Given the description of an element on the screen output the (x, y) to click on. 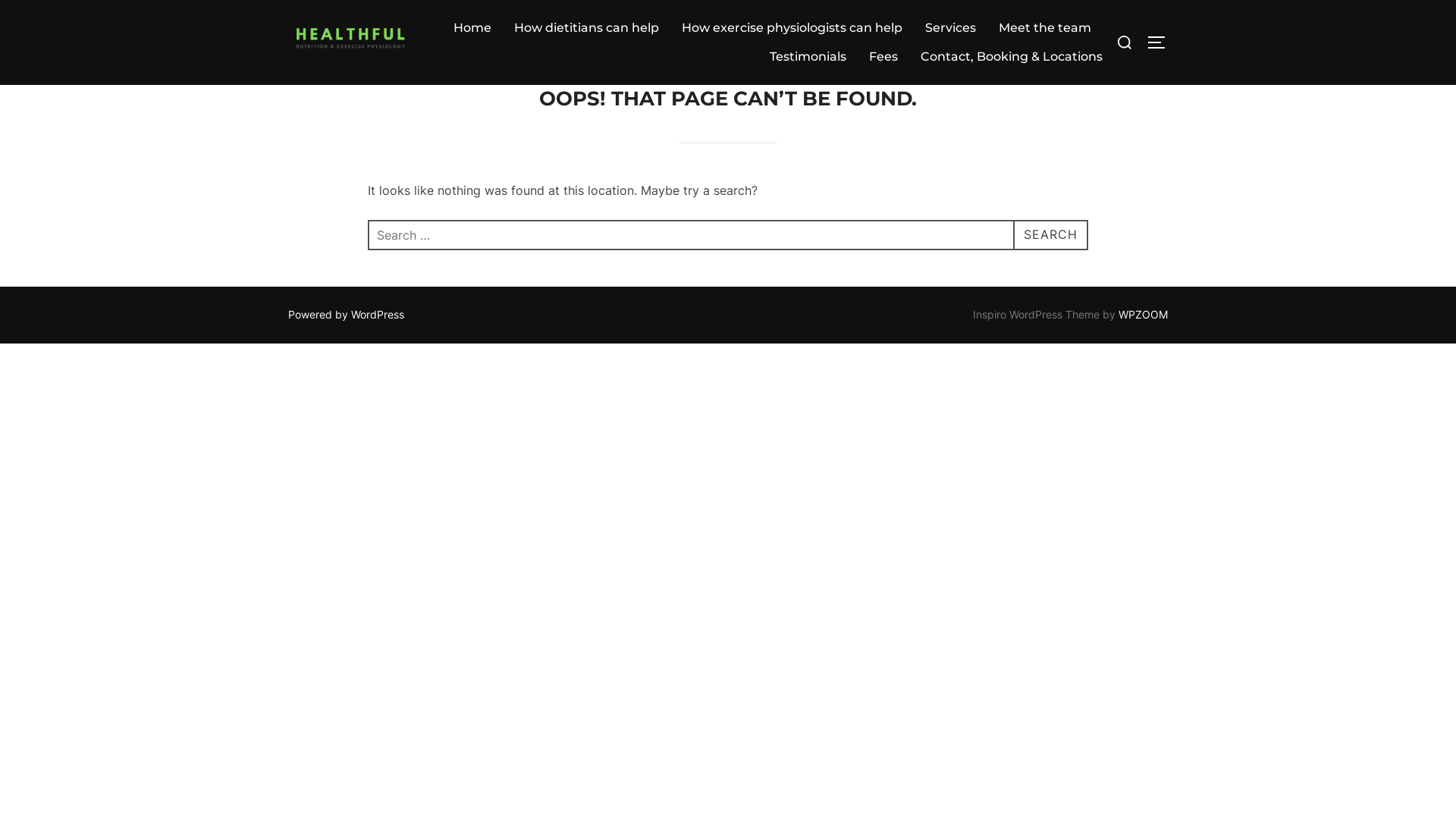
How exercise physiologists can help Element type: text (791, 27)
Home Element type: text (472, 27)
WPZOOM Element type: text (1142, 313)
Meet the team Element type: text (1044, 27)
Fees Element type: text (883, 56)
Services Element type: text (950, 27)
Powered by WordPress Element type: text (346, 313)
How dietitians can help Element type: text (586, 27)
SEARCH Element type: text (1050, 234)
Testimonials Element type: text (807, 56)
Contact, Booking & Locations Element type: text (1011, 56)
TOGGLE SIDEBAR & NAVIGATION Element type: text (1156, 42)
